Given the description of an element on the screen output the (x, y) to click on. 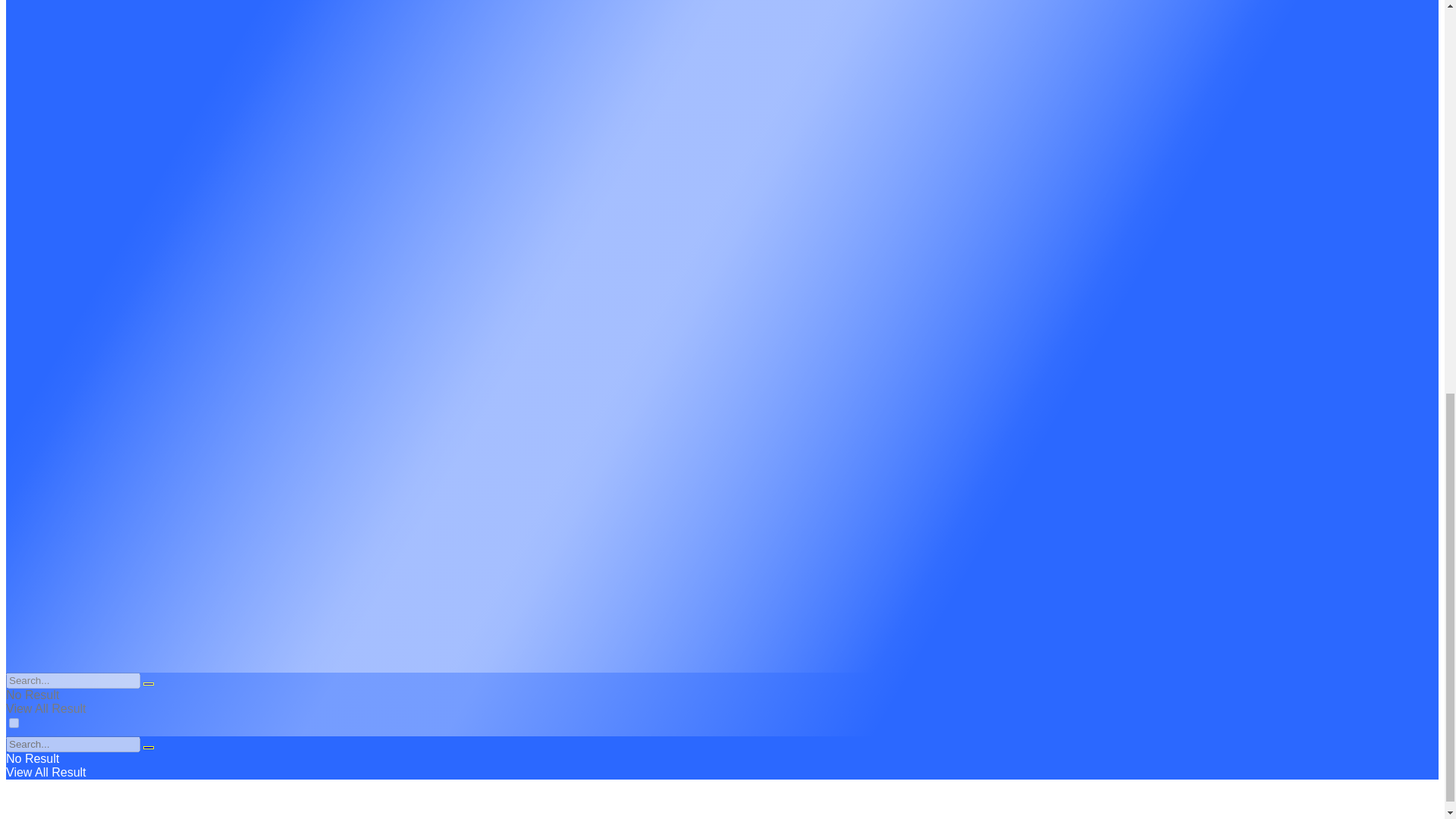
on (13, 723)
